Given the description of an element on the screen output the (x, y) to click on. 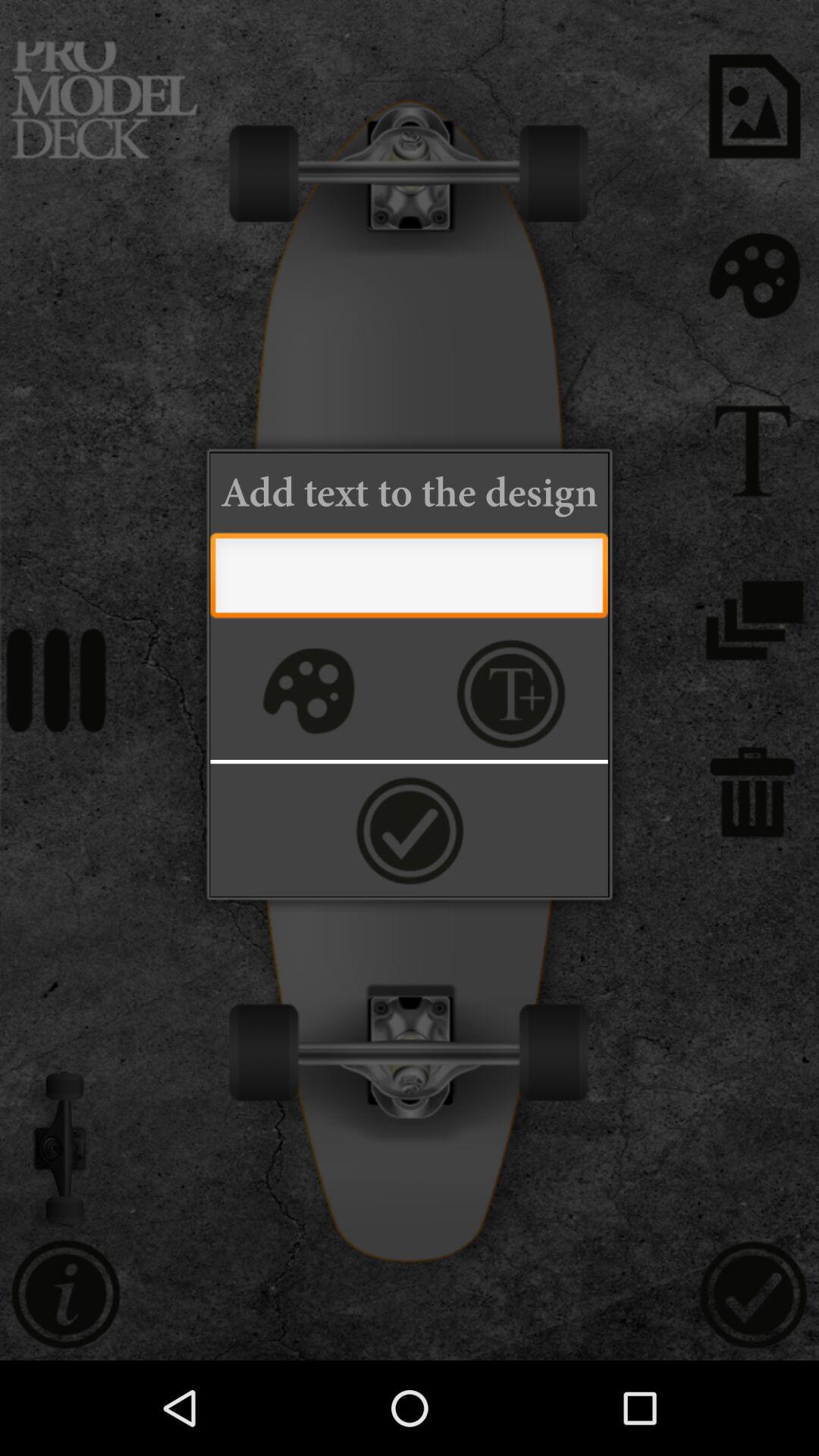
enter text (408, 579)
